Given the description of an element on the screen output the (x, y) to click on. 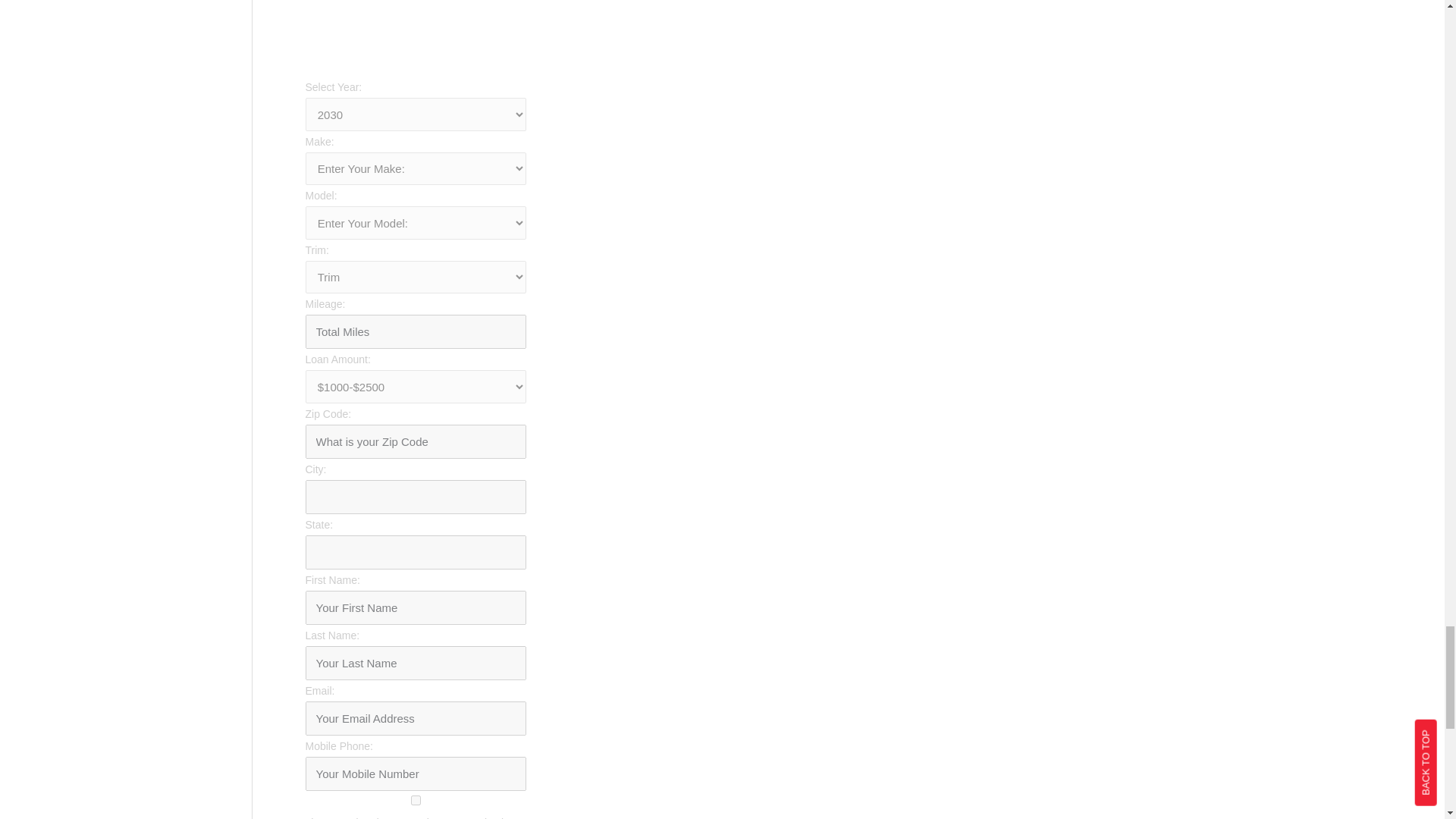
Your First Name (414, 607)
Your Email Address (414, 718)
What is your Zip Code (414, 441)
Total Miles (414, 331)
yes (414, 800)
Your Mobile Number (414, 773)
Your Last Name (414, 663)
